Given the description of an element on the screen output the (x, y) to click on. 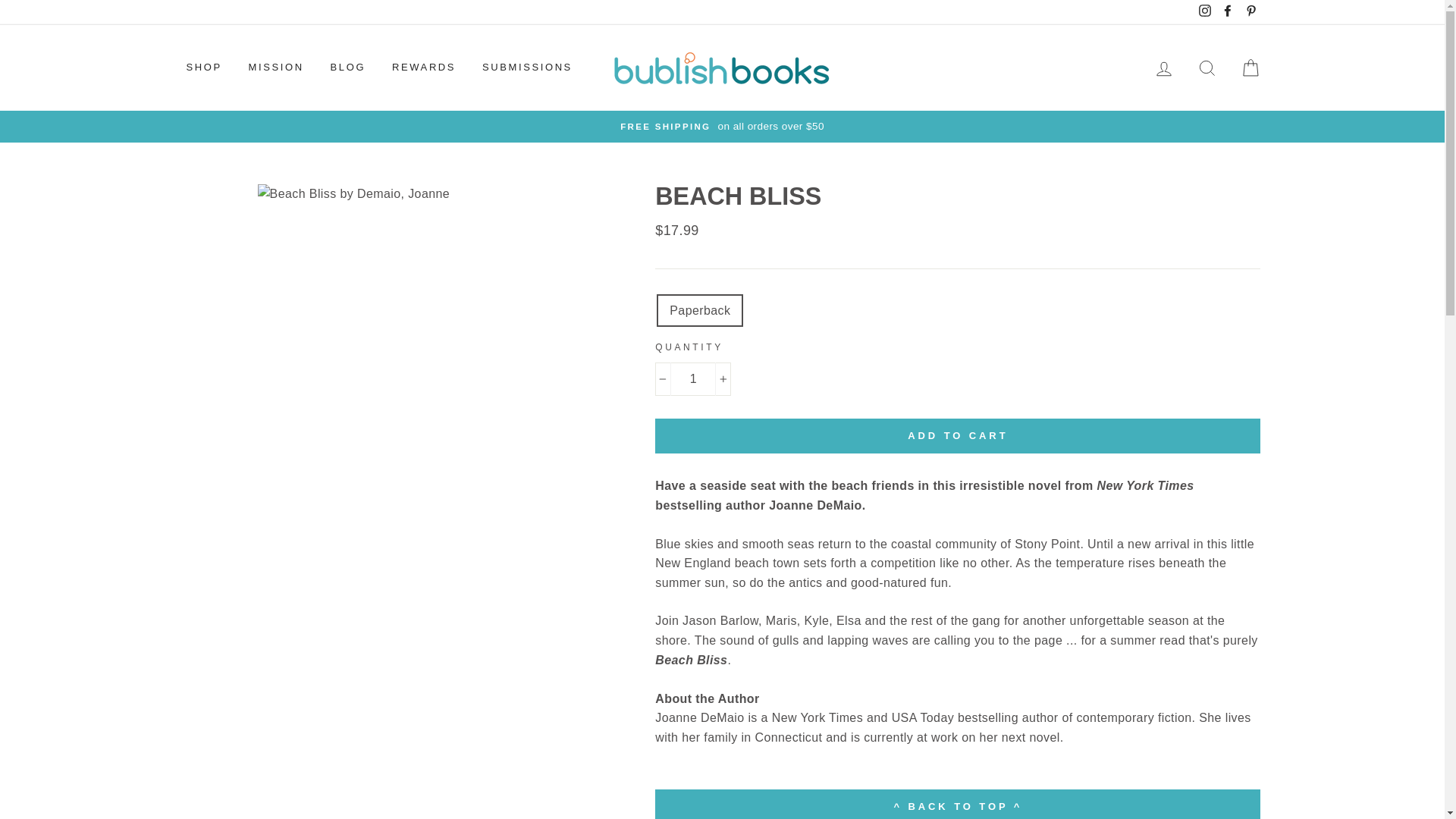
1 (692, 378)
REWARDS (423, 67)
ADD TO CART (957, 435)
CART (1249, 67)
SEARCH (1207, 67)
LOG IN (1163, 67)
BLOG (347, 67)
SHOP (203, 67)
MISSION (276, 67)
